Given the description of an element on the screen output the (x, y) to click on. 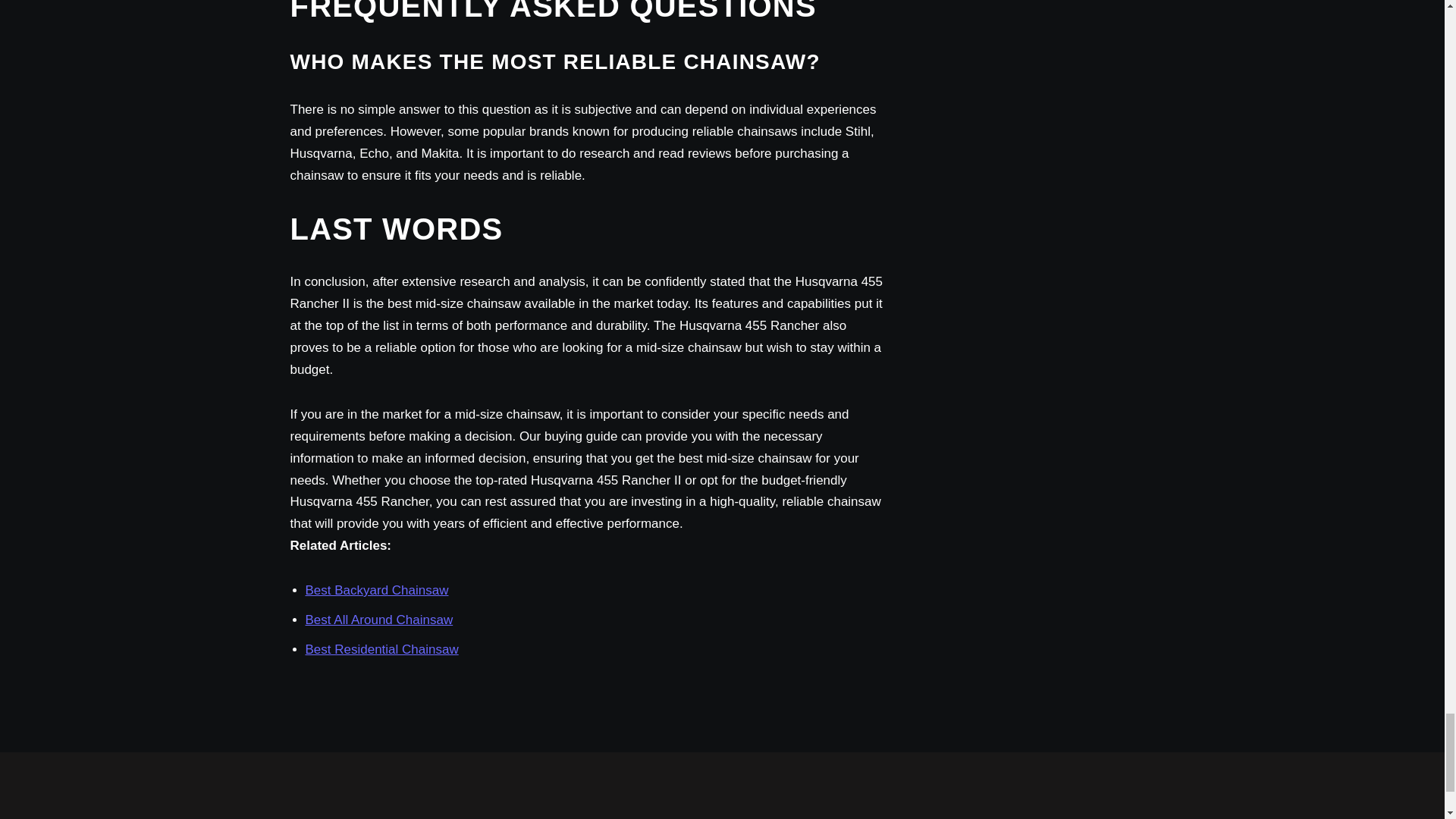
Best Residential Chainsaw (381, 649)
Best Backyard Chainsaw (376, 590)
Best All Around Chainsaw (378, 619)
